Given the description of an element on the screen output the (x, y) to click on. 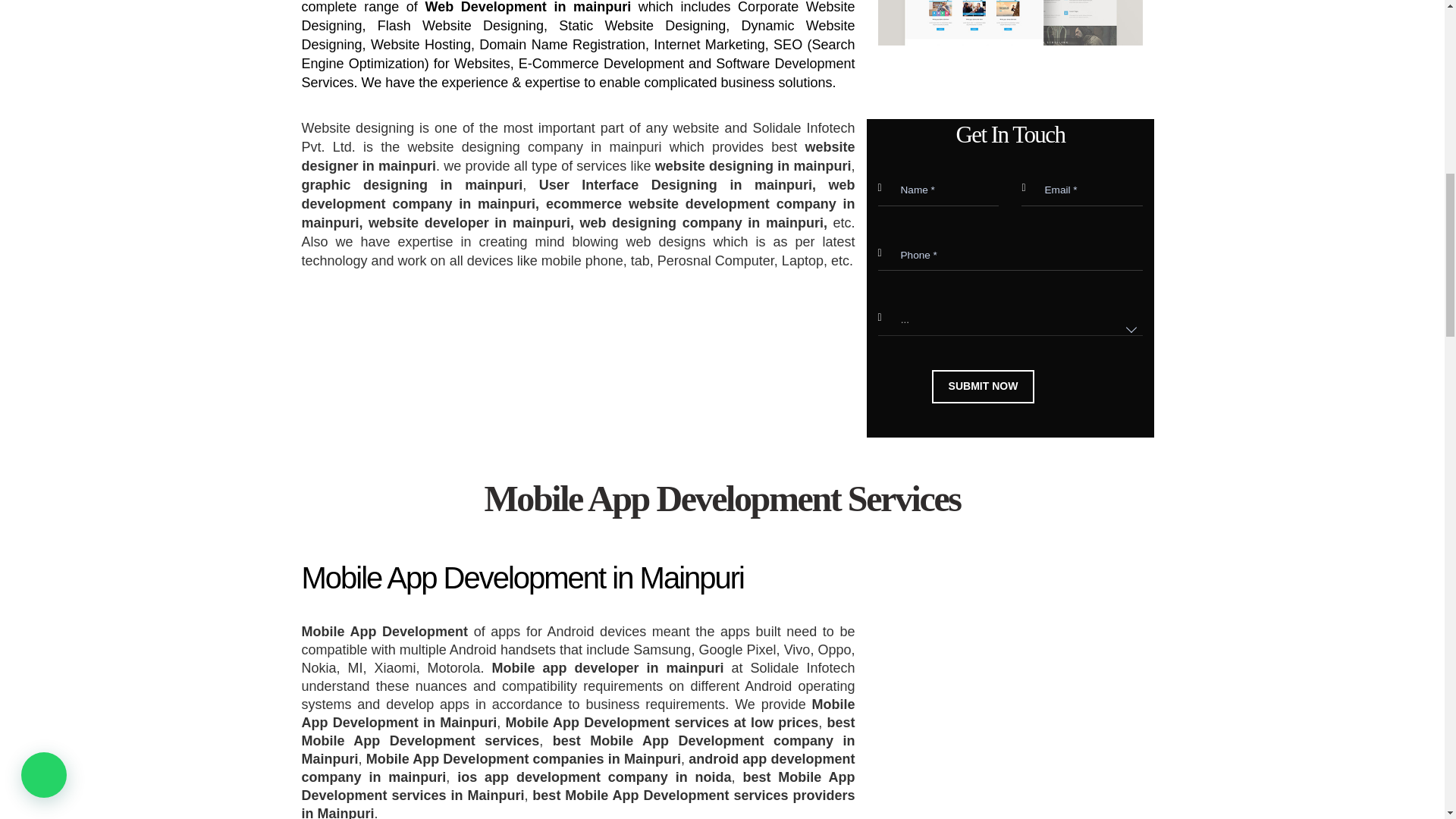
SUBMIT NOW (983, 386)
